Given the description of an element on the screen output the (x, y) to click on. 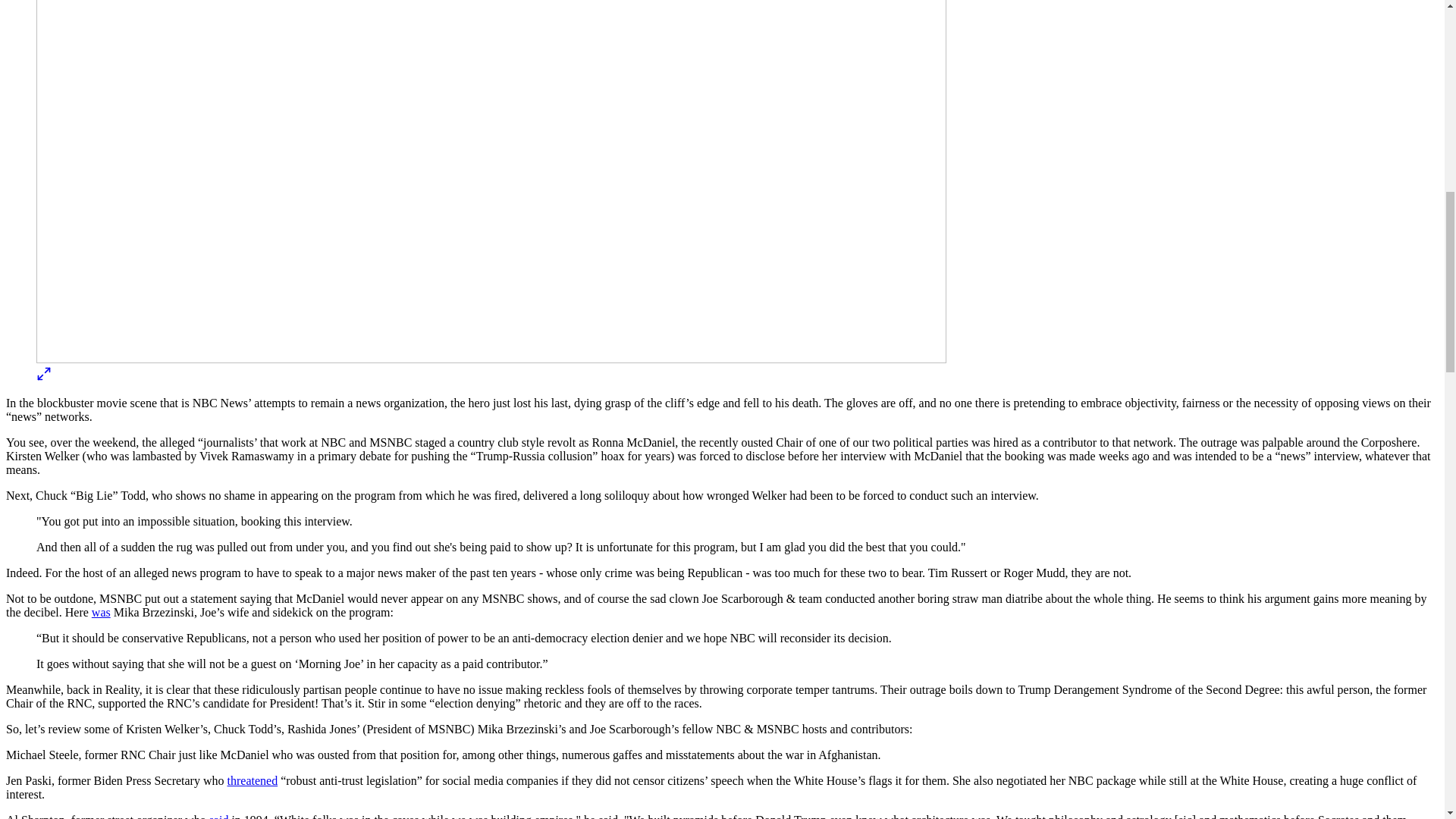
said (218, 816)
threatened (252, 780)
was (100, 612)
